Given the description of an element on the screen output the (x, y) to click on. 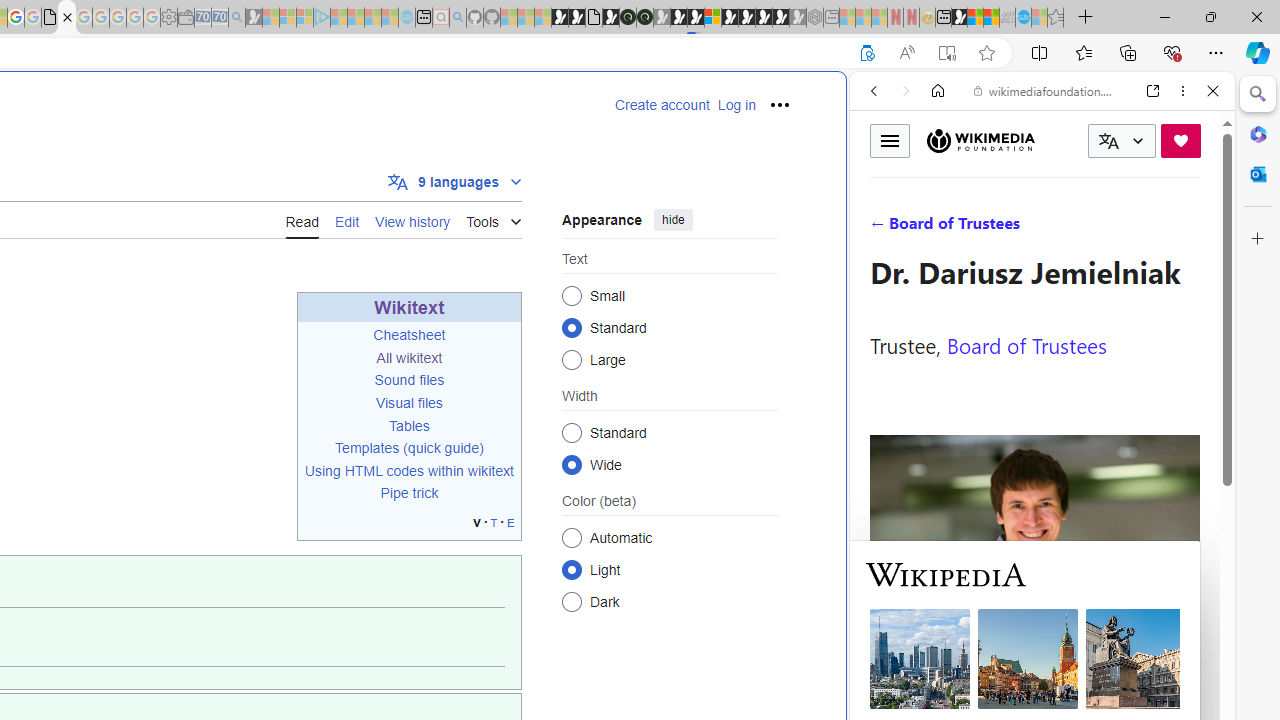
Log in (736, 105)
Wikimedia Foundation (980, 140)
Wikitext (409, 306)
Edit (346, 219)
Wide (571, 464)
